Given the description of an element on the screen output the (x, y) to click on. 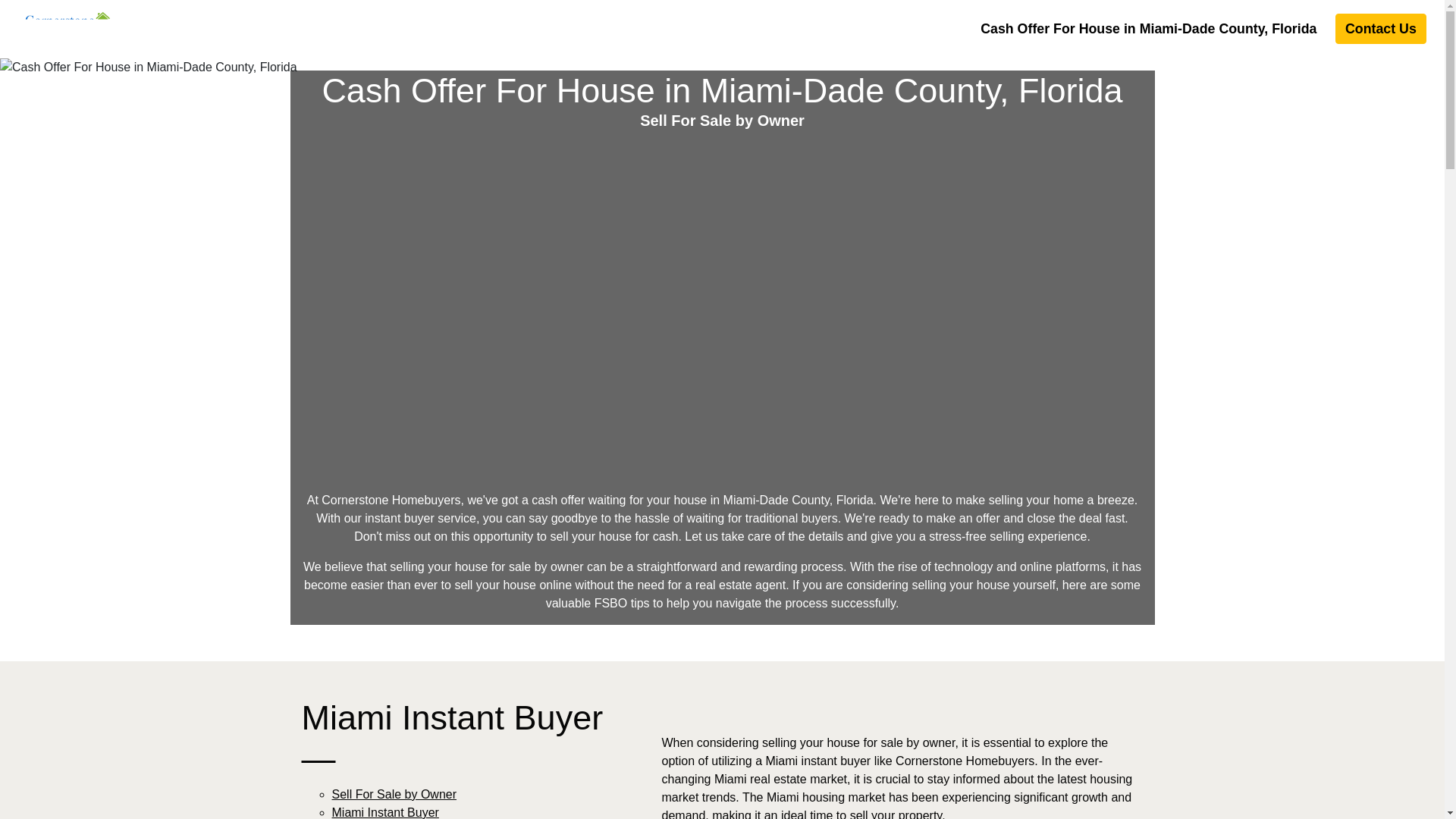
Miami Instant Buyer (385, 812)
Sell For Sale by Owner (394, 793)
Contact Us (1380, 29)
Cash Offer For House in Miami-Dade County, Florida (1148, 29)
